Given the description of an element on the screen output the (x, y) to click on. 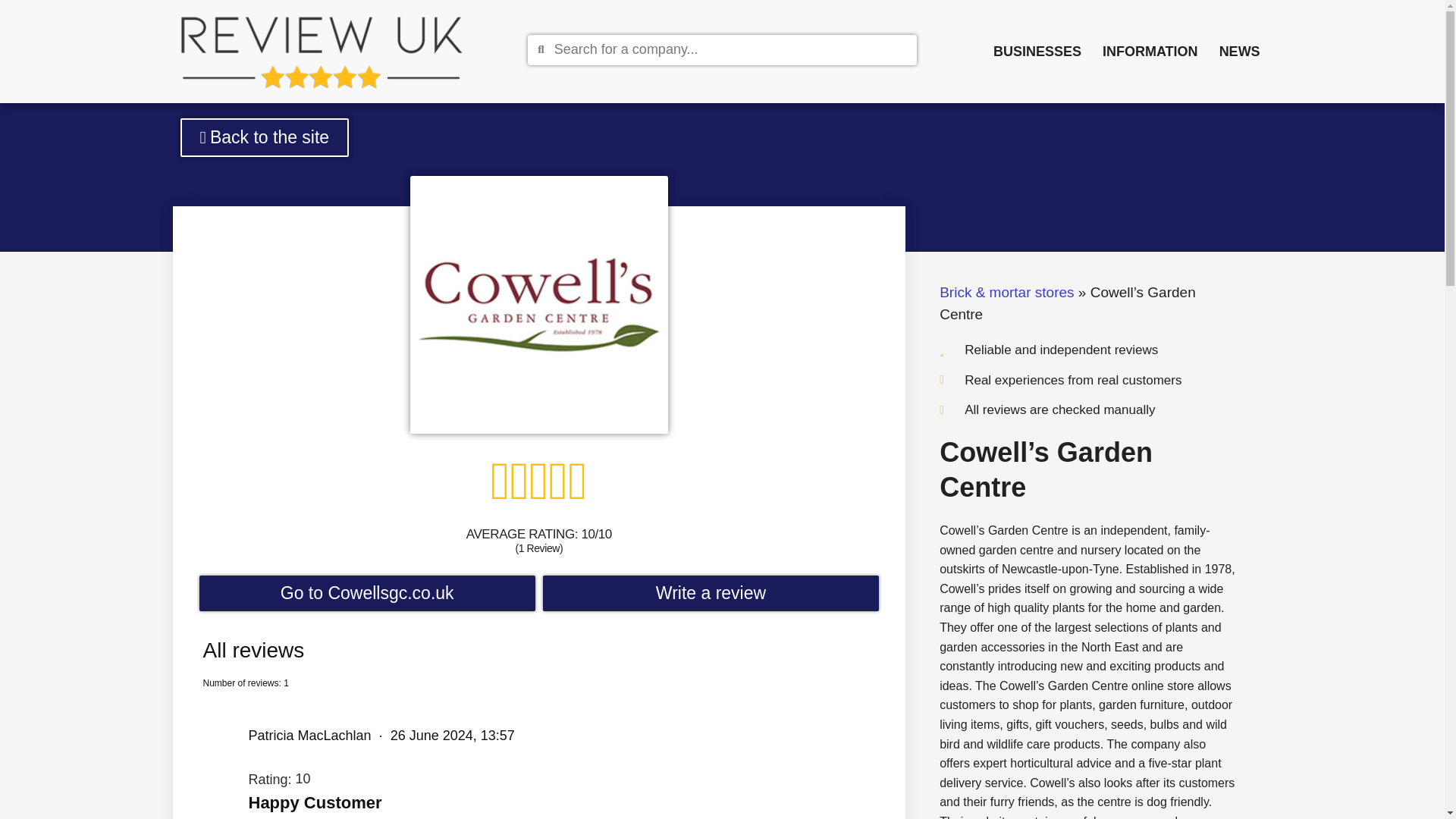
INFORMATION (1150, 51)
BUSINESSES (1037, 51)
NEWS (1239, 51)
Back to the site (264, 137)
